Given the description of an element on the screen output the (x, y) to click on. 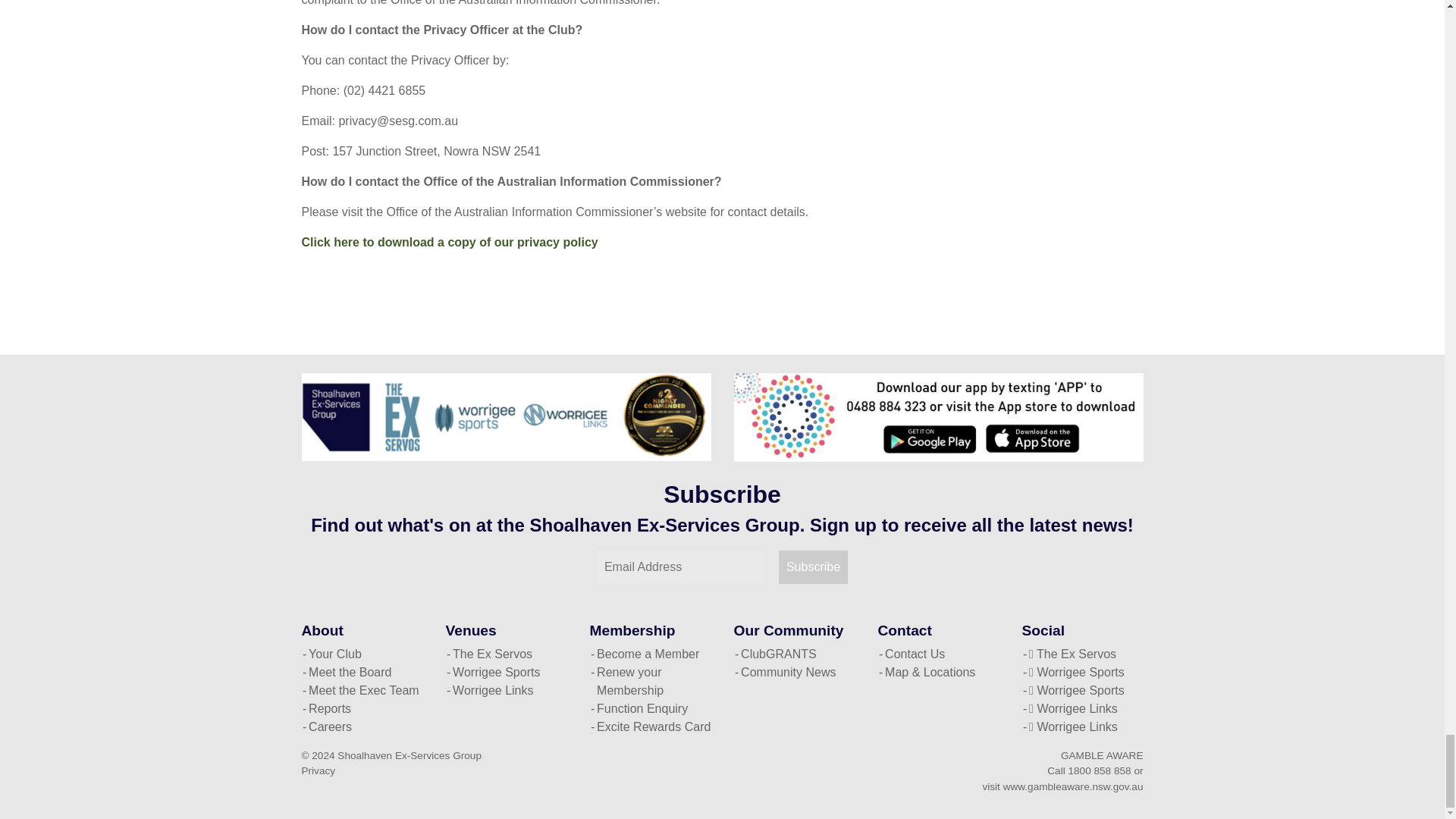
Click here to download a copy of our privacy policy (449, 241)
Subscribe (812, 566)
The Ex Servos (506, 654)
Reports (362, 709)
ClubGRANTS (794, 654)
Meet the Board (362, 672)
Function Enquiry (650, 709)
Become a Member (650, 654)
Worrigee Sports (506, 672)
Careers (362, 727)
